Given the description of an element on the screen output the (x, y) to click on. 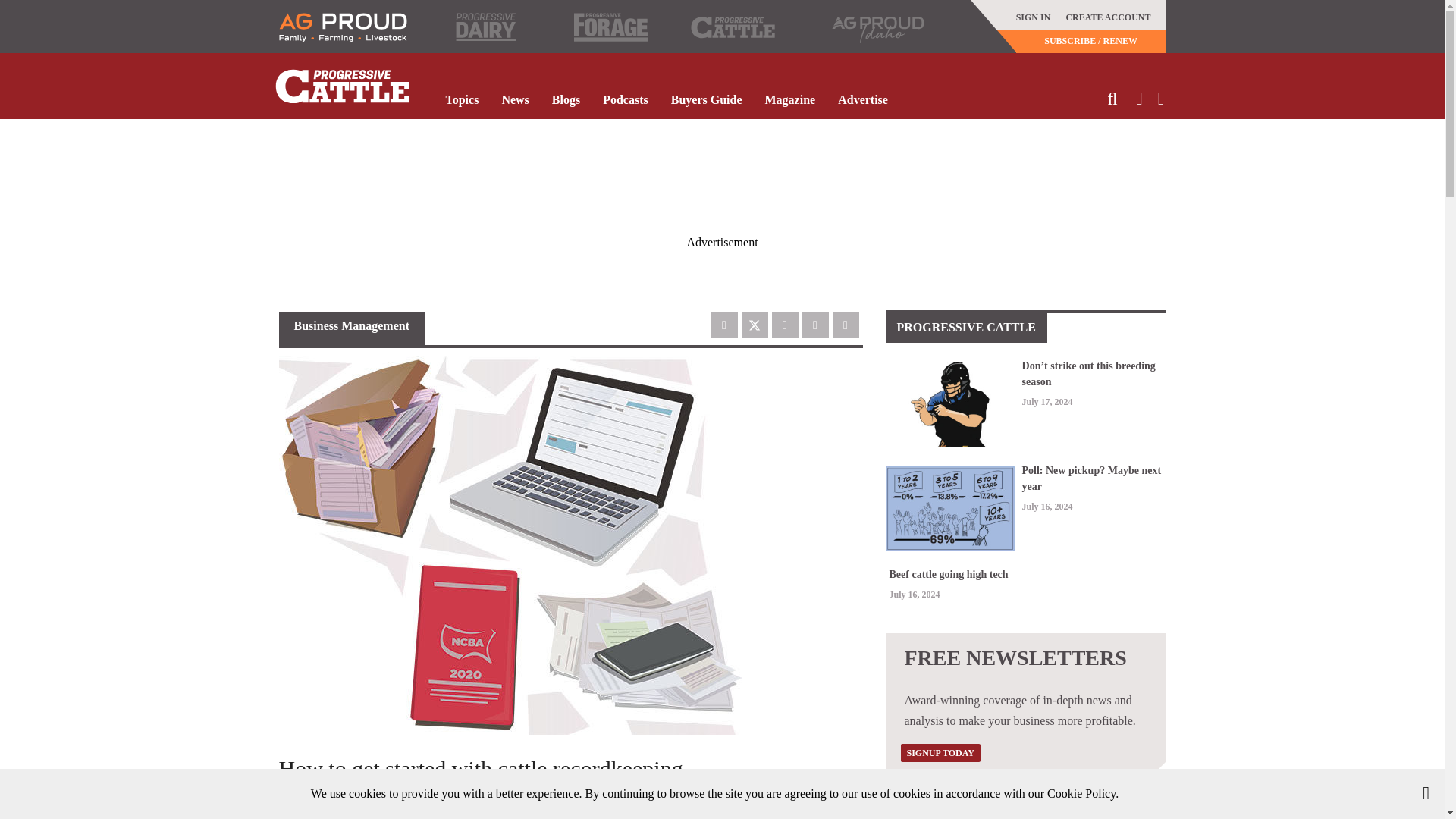
59952-ruff-umpire-strike.jpg (949, 404)
60047-poll-result.jpg (949, 509)
